Given the description of an element on the screen output the (x, y) to click on. 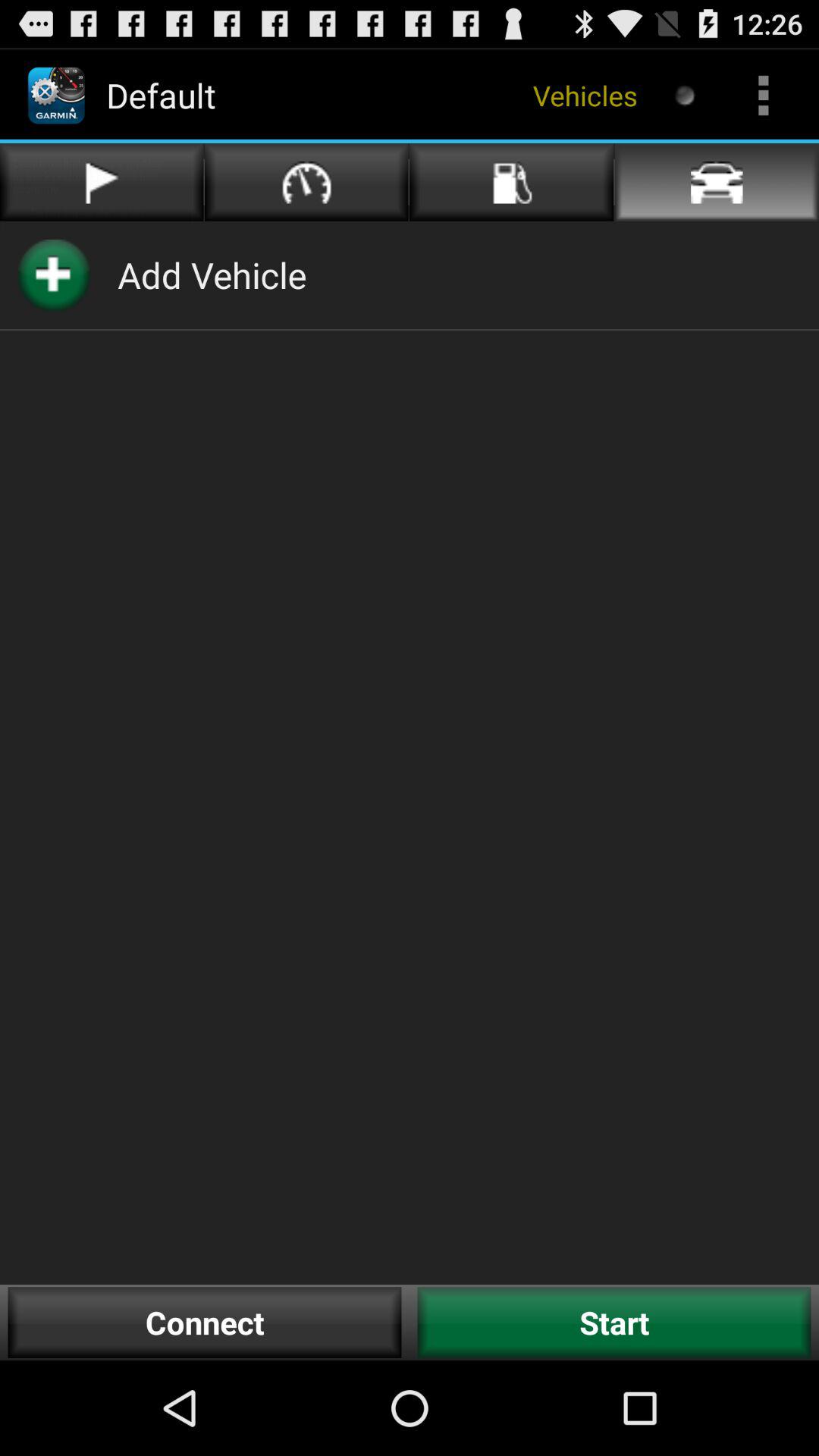
turn off the start at the bottom right corner (614, 1322)
